Given the description of an element on the screen output the (x, y) to click on. 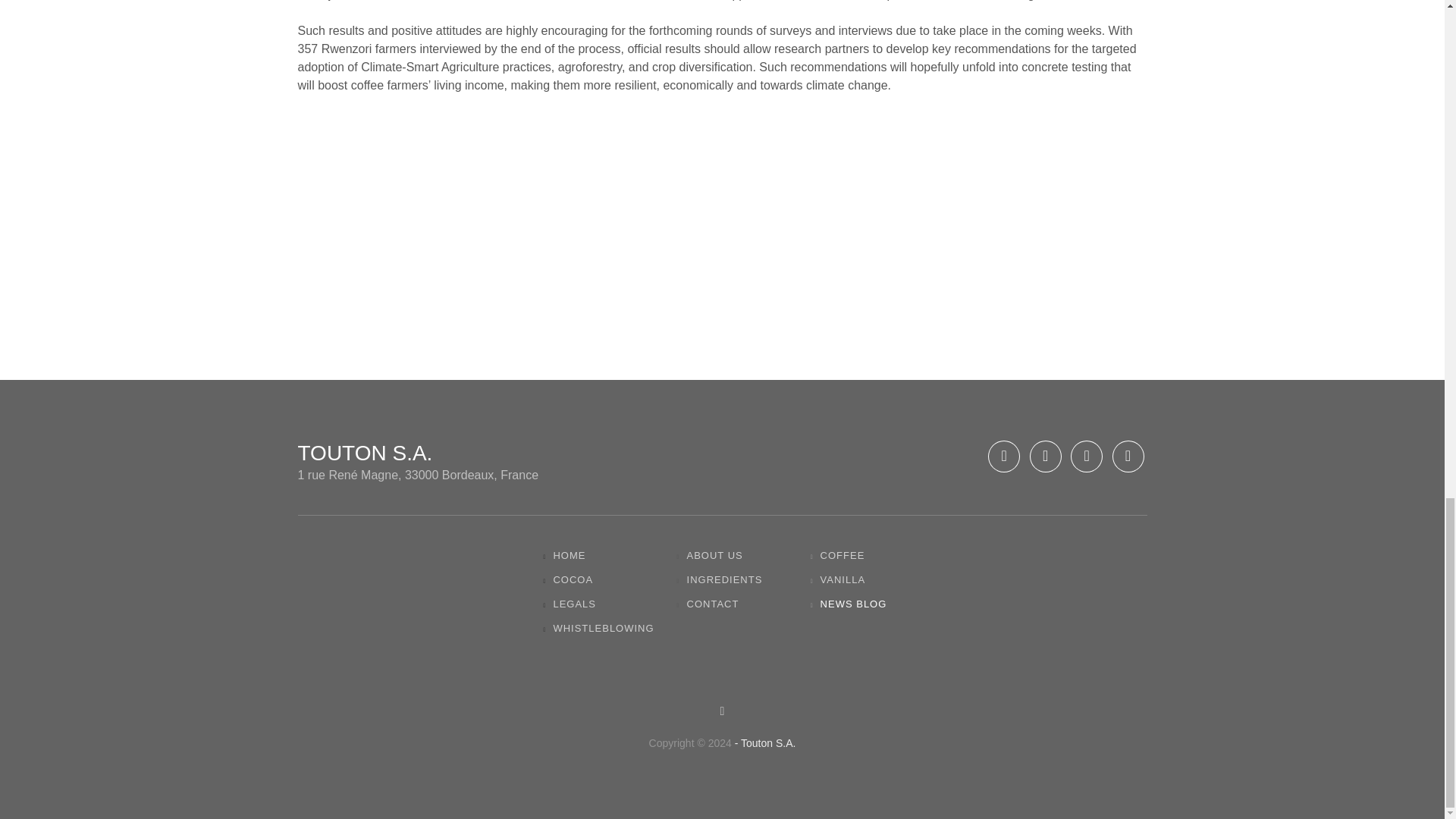
Touton S.A. (767, 743)
NEWS BLOG (849, 604)
COCOA (568, 579)
LEGALS (569, 604)
INGREDIENTS (720, 579)
ABOUT US (710, 556)
- (736, 743)
CONTACT (709, 604)
VANILLA (839, 579)
HOME (564, 556)
COFFEE (838, 556)
WHISTLEBLOWING (598, 628)
